Given the description of an element on the screen output the (x, y) to click on. 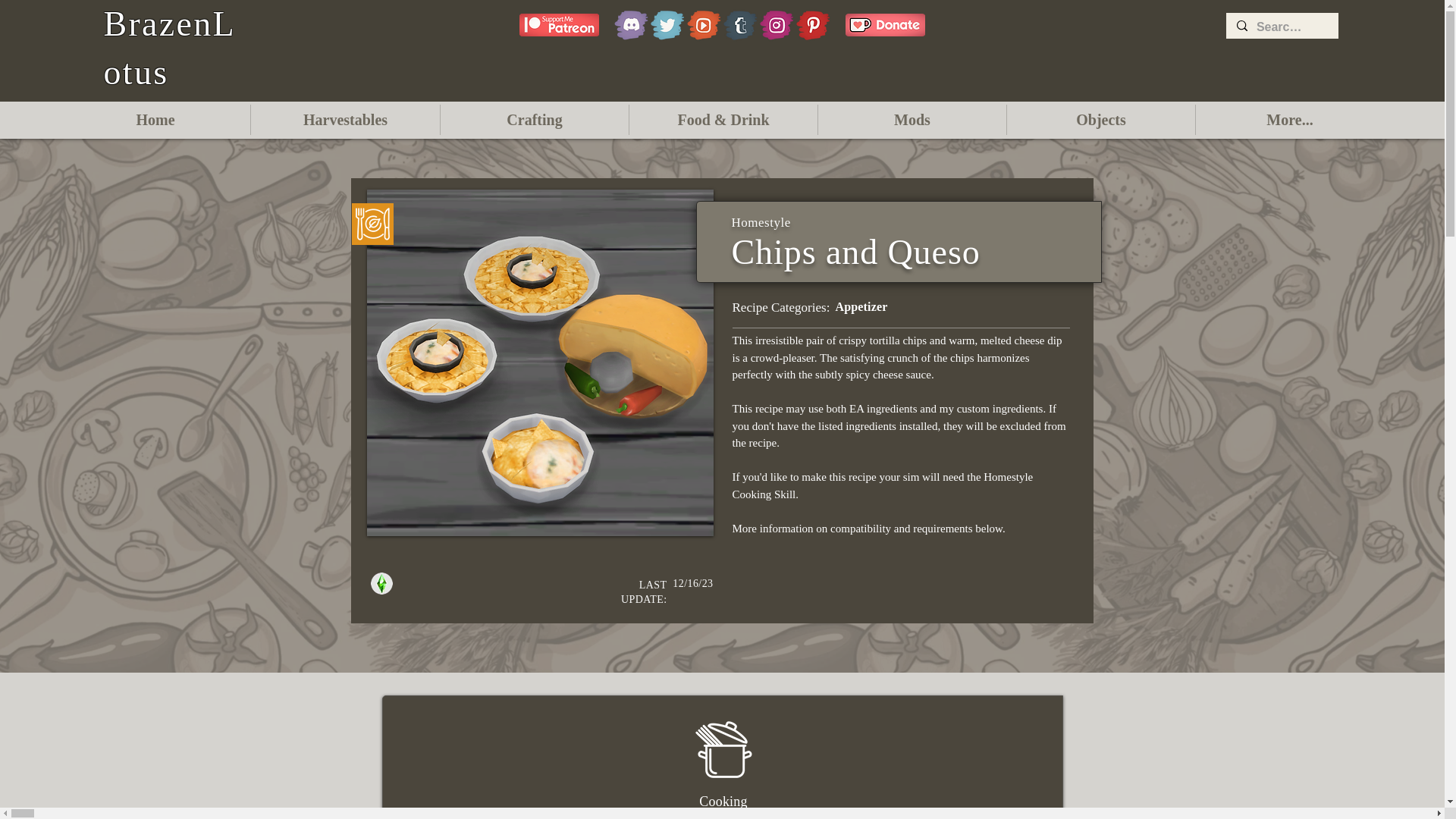
Mods (912, 119)
Home (155, 119)
Chips and Queso (539, 362)
Vegetarian-Safe (371, 223)
Harvestables (344, 119)
BrazenLotus (168, 47)
Crafting (534, 119)
Objects (1101, 119)
BG - Base Game (380, 583)
homestyleSkill.png (722, 749)
